Given the description of an element on the screen output the (x, y) to click on. 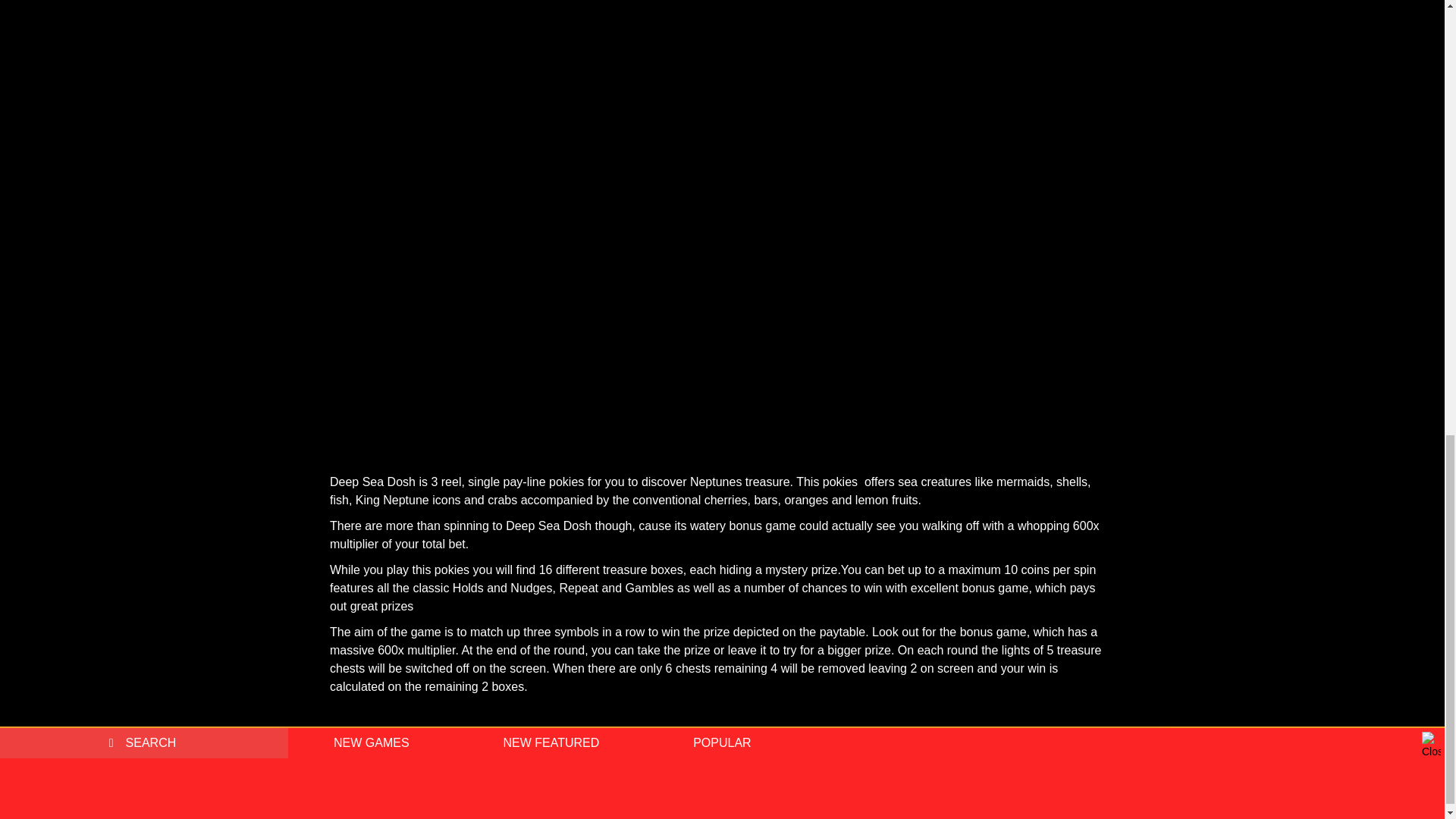
Contact Us (887, 742)
Responsible Gaming (678, 742)
Terms and Conditions (793, 742)
Sitemap (948, 742)
ifreeslots.co (656, 767)
About Us (592, 742)
